Given the description of an element on the screen output the (x, y) to click on. 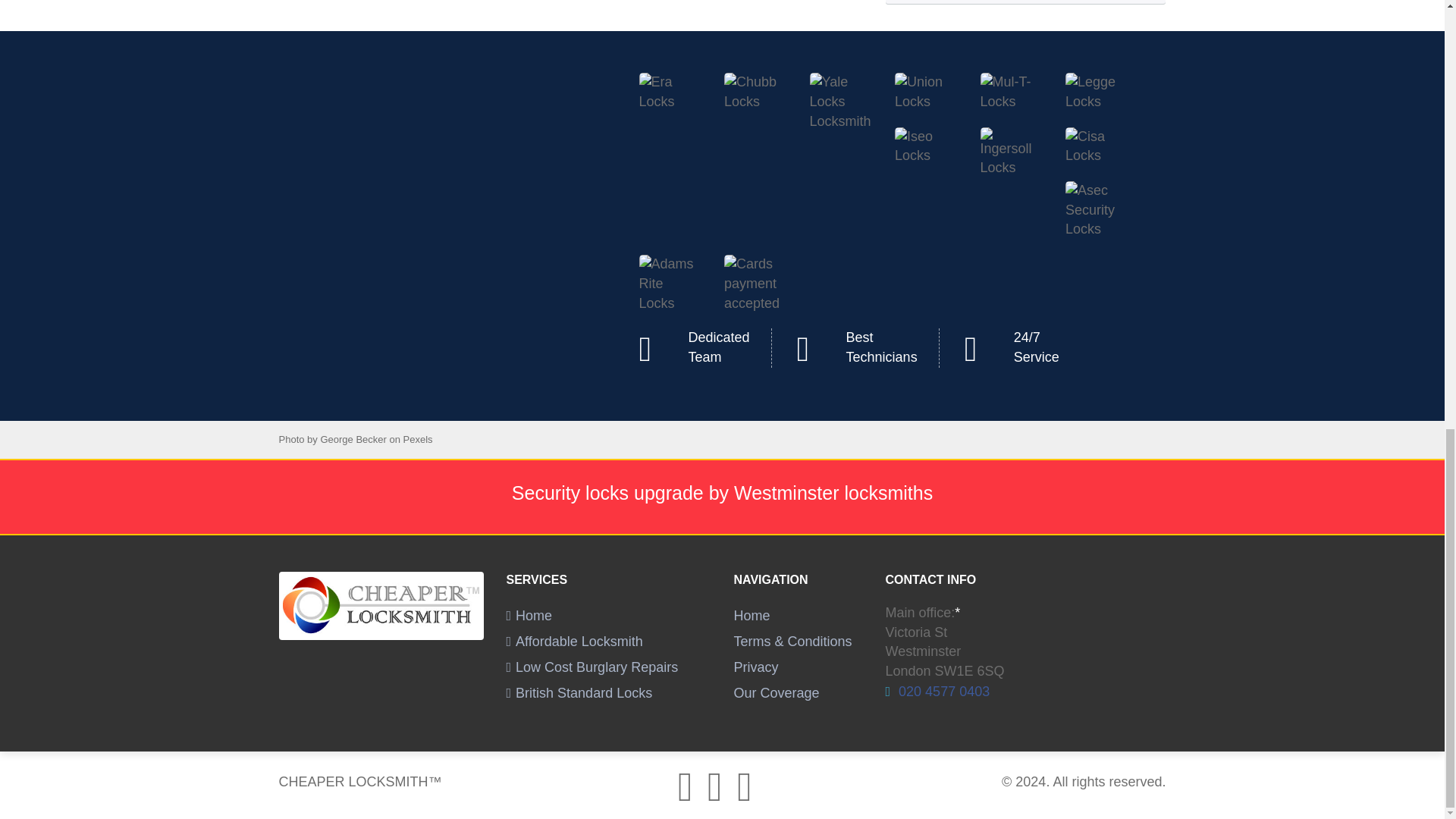
020 4577 0403 (942, 691)
Affordable cheap Locksmith in Westminster (529, 615)
Affordable Westminster Locksmith Services (574, 641)
Low Cost Burglary Repairs (592, 667)
George Becker (352, 439)
Home (529, 615)
British Standard locks installation in Westminster (579, 693)
Our Coverage (776, 693)
Home (751, 615)
British Standard Locks (579, 693)
Low Cost Burglary repairs in Westminster (592, 667)
Privacy (755, 667)
Pexels (417, 439)
Affordable Locksmith (574, 641)
